Given the description of an element on the screen output the (x, y) to click on. 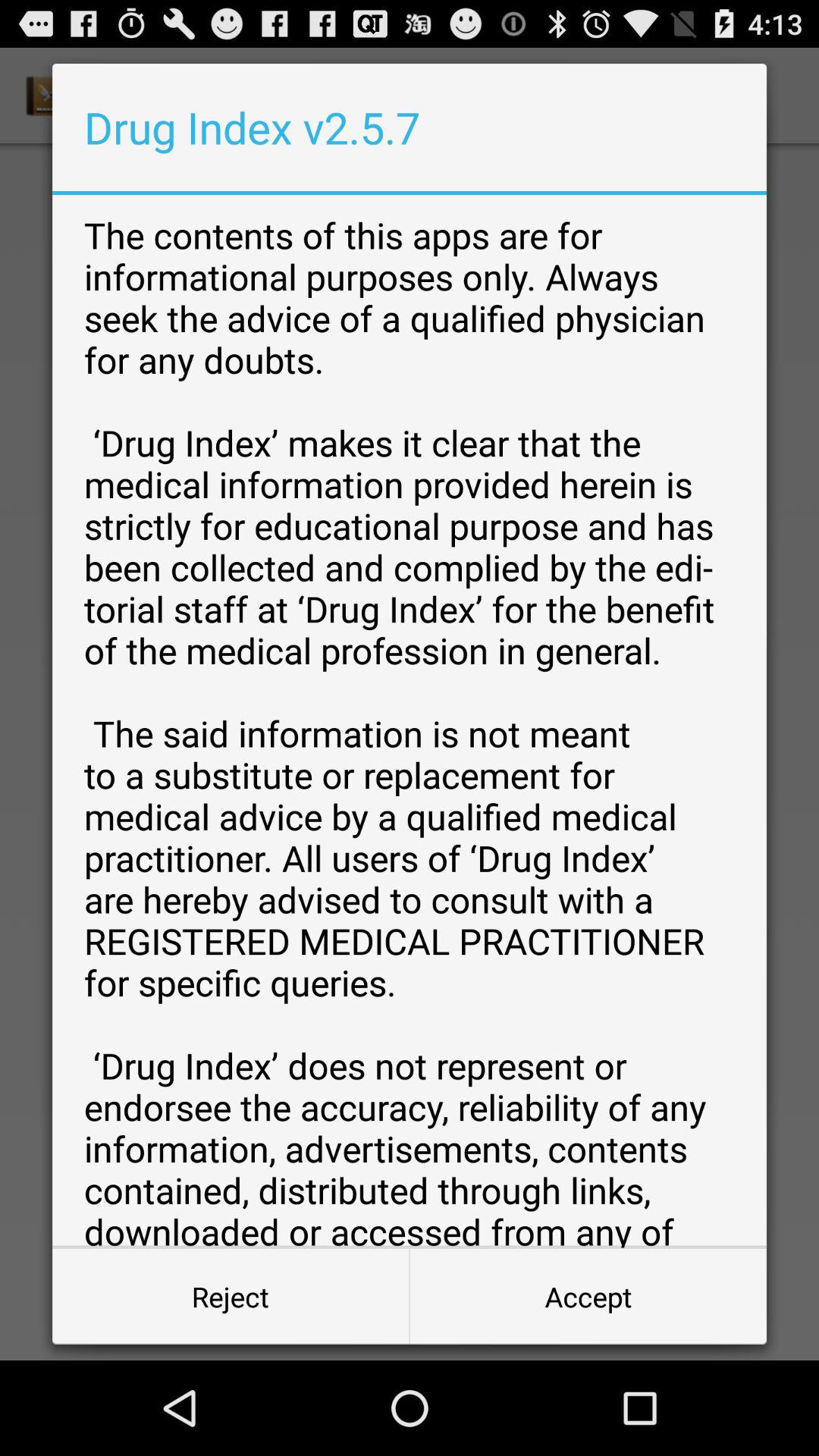
turn off the button to the right of reject icon (588, 1296)
